Given the description of an element on the screen output the (x, y) to click on. 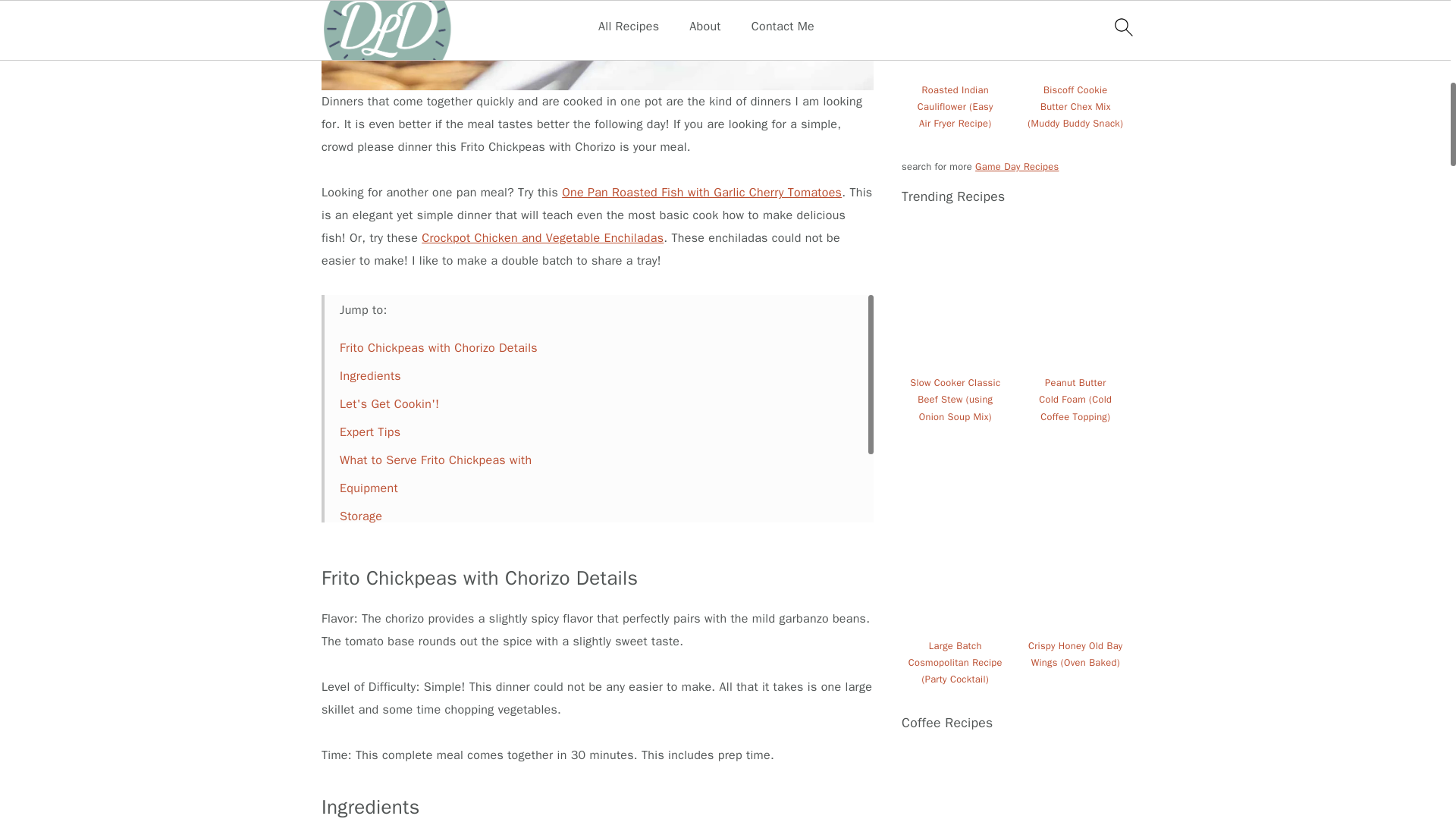
What to Serve Frito Chickpeas with (435, 459)
Ingredients (370, 376)
Let's Get Cookin'! (389, 403)
Frito Chickpeas with Chorizo Details (438, 347)
Crockpot Chicken and Vegetable Enchiladas (542, 237)
One Pan Roasted Fish with Garlic Cherry Tomatoes (701, 192)
Expert Tips (369, 432)
